Given the description of an element on the screen output the (x, y) to click on. 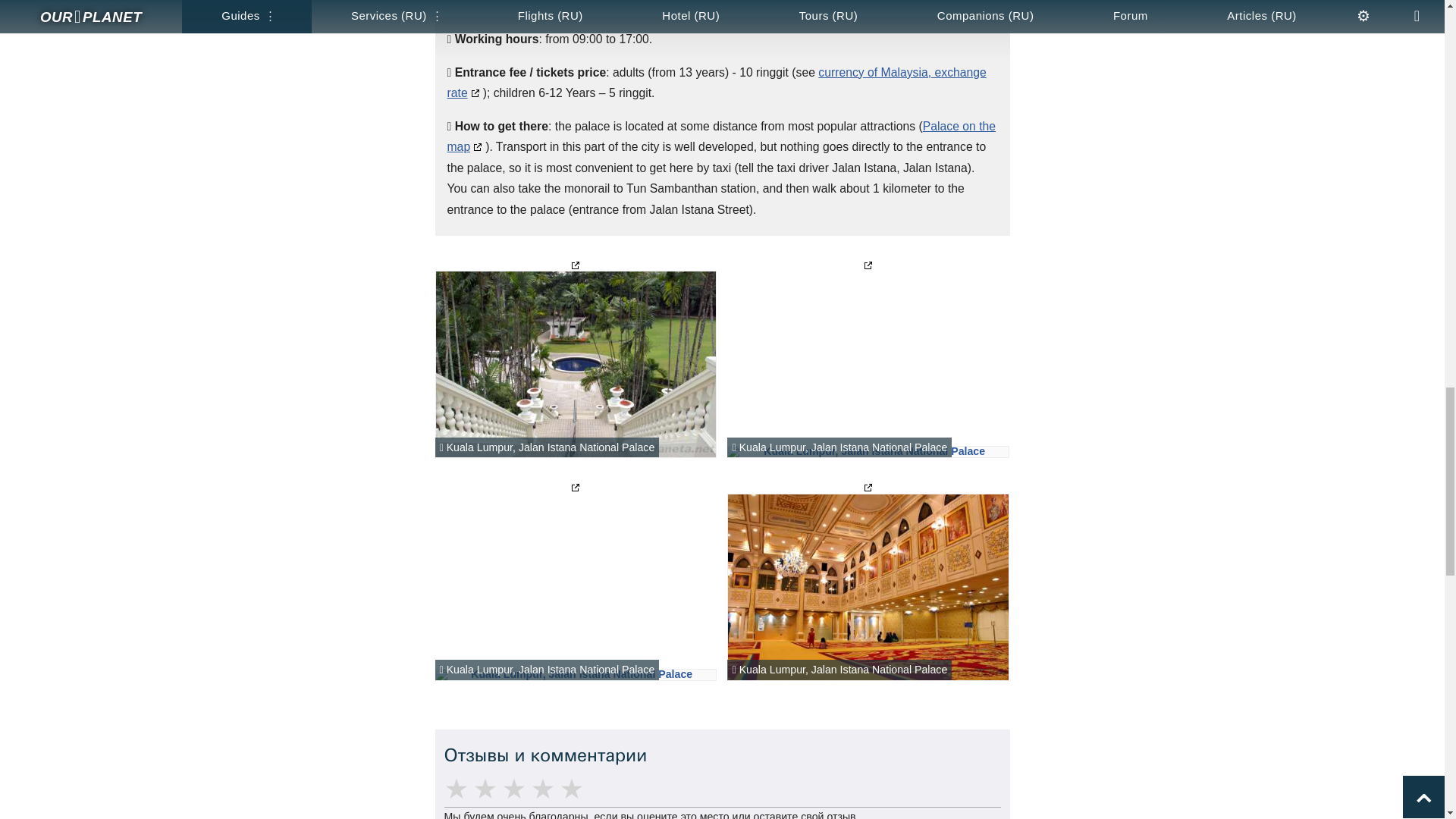
Kuala Lumpur, Jalan Istana National Palace (575, 364)
Kuala Lumpur, Jalan Istana National Palace (575, 674)
Kuala Lumpur, Jalan Istana National Palace (867, 451)
Kuala Lumpur, Jalan Istana National Palace (867, 586)
